Given the description of an element on the screen output the (x, y) to click on. 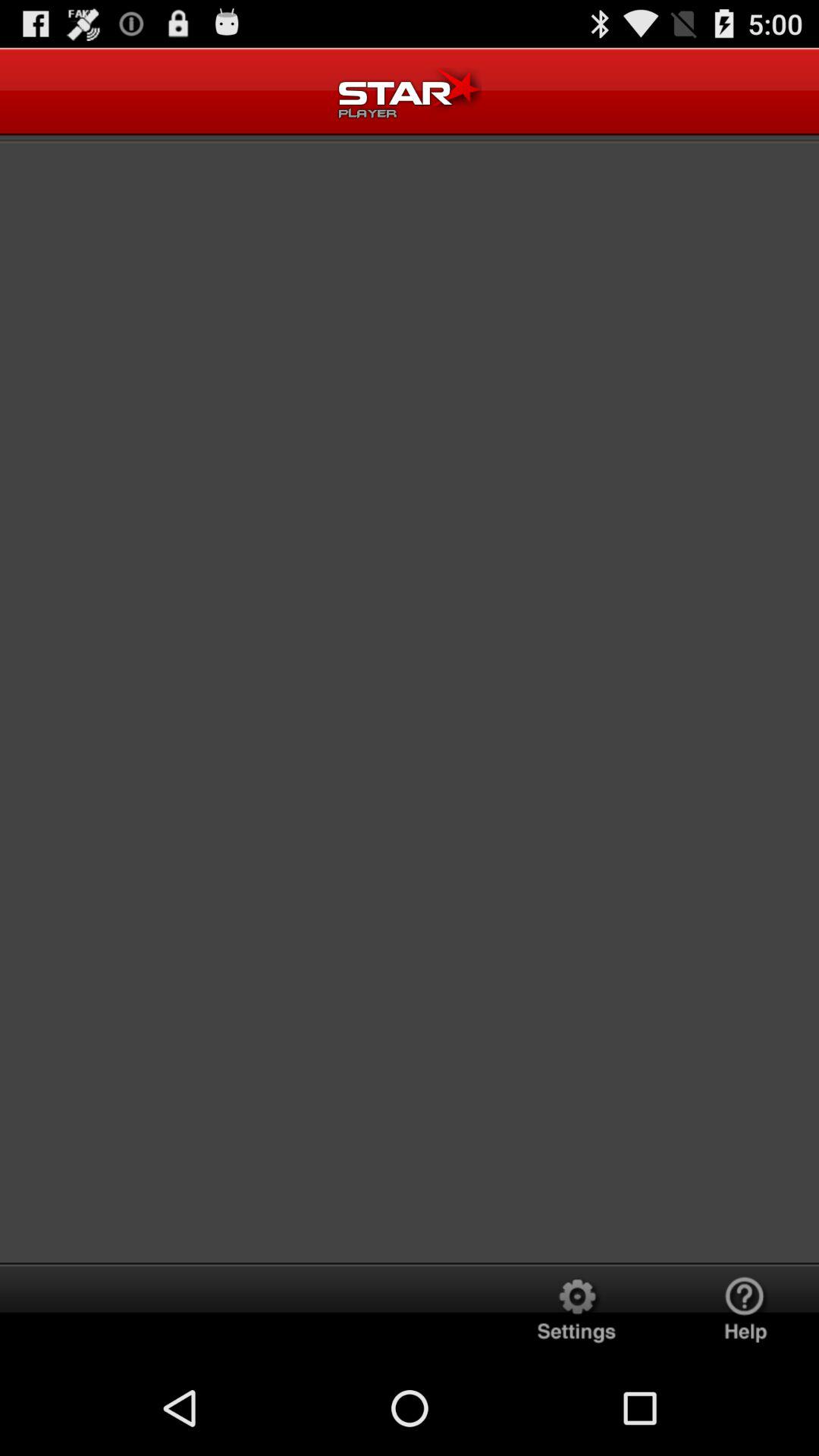
open setting (576, 1311)
